Given the description of an element on the screen output the (x, y) to click on. 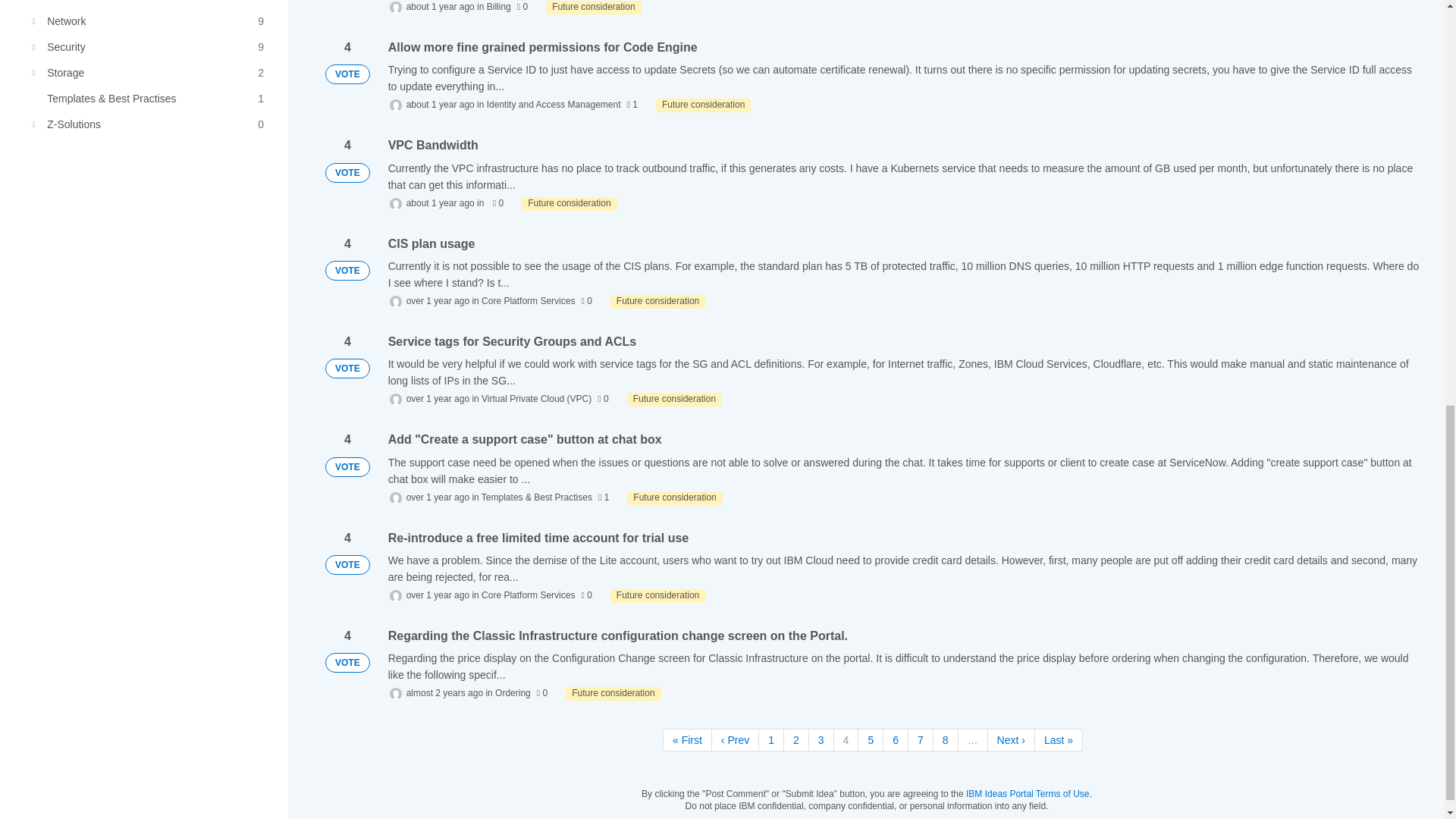
Future consideration (674, 498)
Future consideration (657, 595)
Future consideration (703, 105)
Future consideration (674, 399)
Future consideration (593, 7)
Future consideration (613, 694)
Future consideration (657, 301)
Future consideration (568, 203)
